Given the description of an element on the screen output the (x, y) to click on. 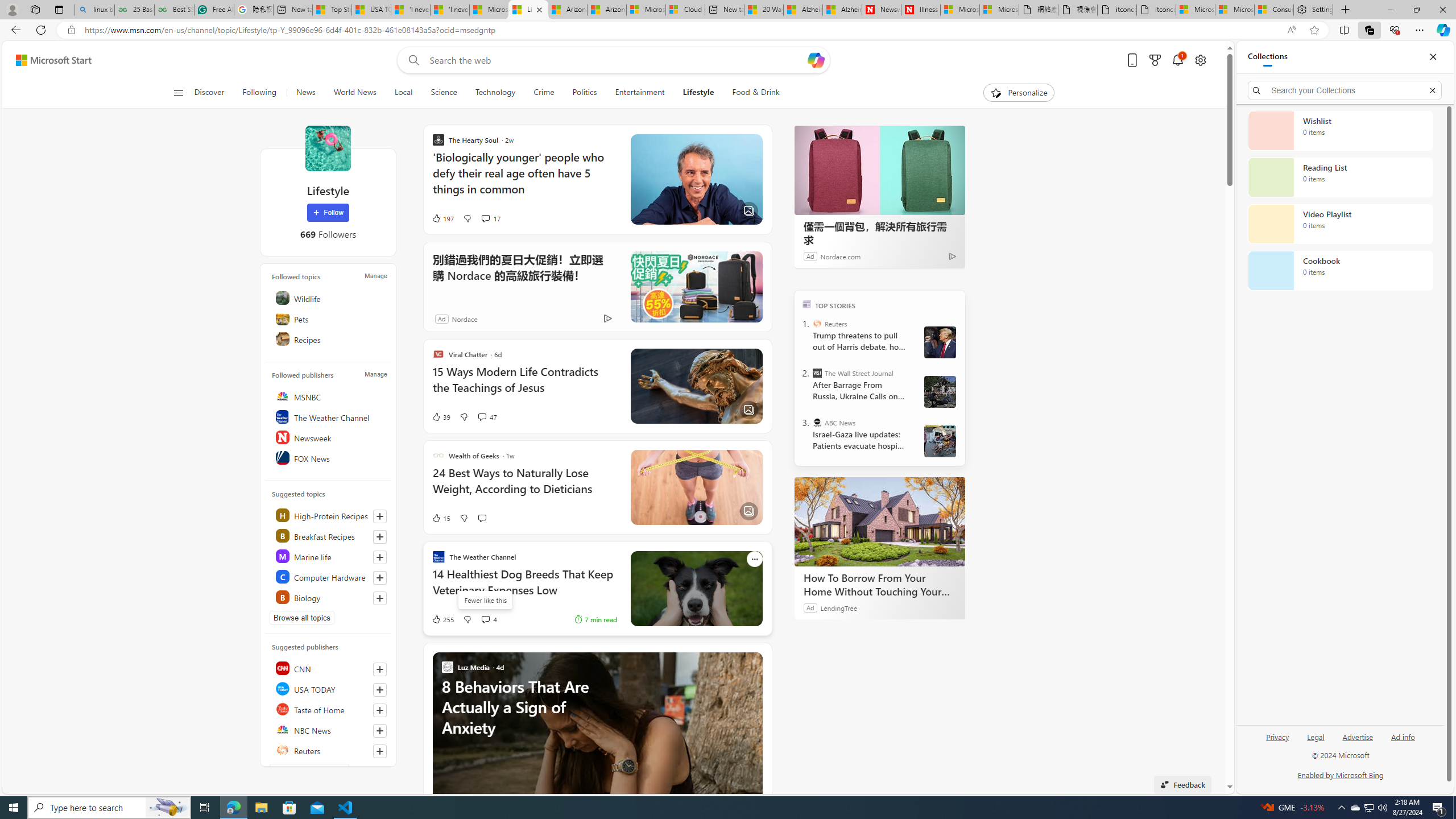
Browse all publishers (309, 770)
Consumer Health Data Privacy Policy (1273, 9)
Video Playlist collection, 0 items (1339, 223)
Wishlist collection, 0 items (1339, 130)
linux basic - Search (94, 9)
Lifestyle - MSN (528, 9)
The Wall Street Journal (816, 372)
Recipes (328, 339)
